Given the description of an element on the screen output the (x, y) to click on. 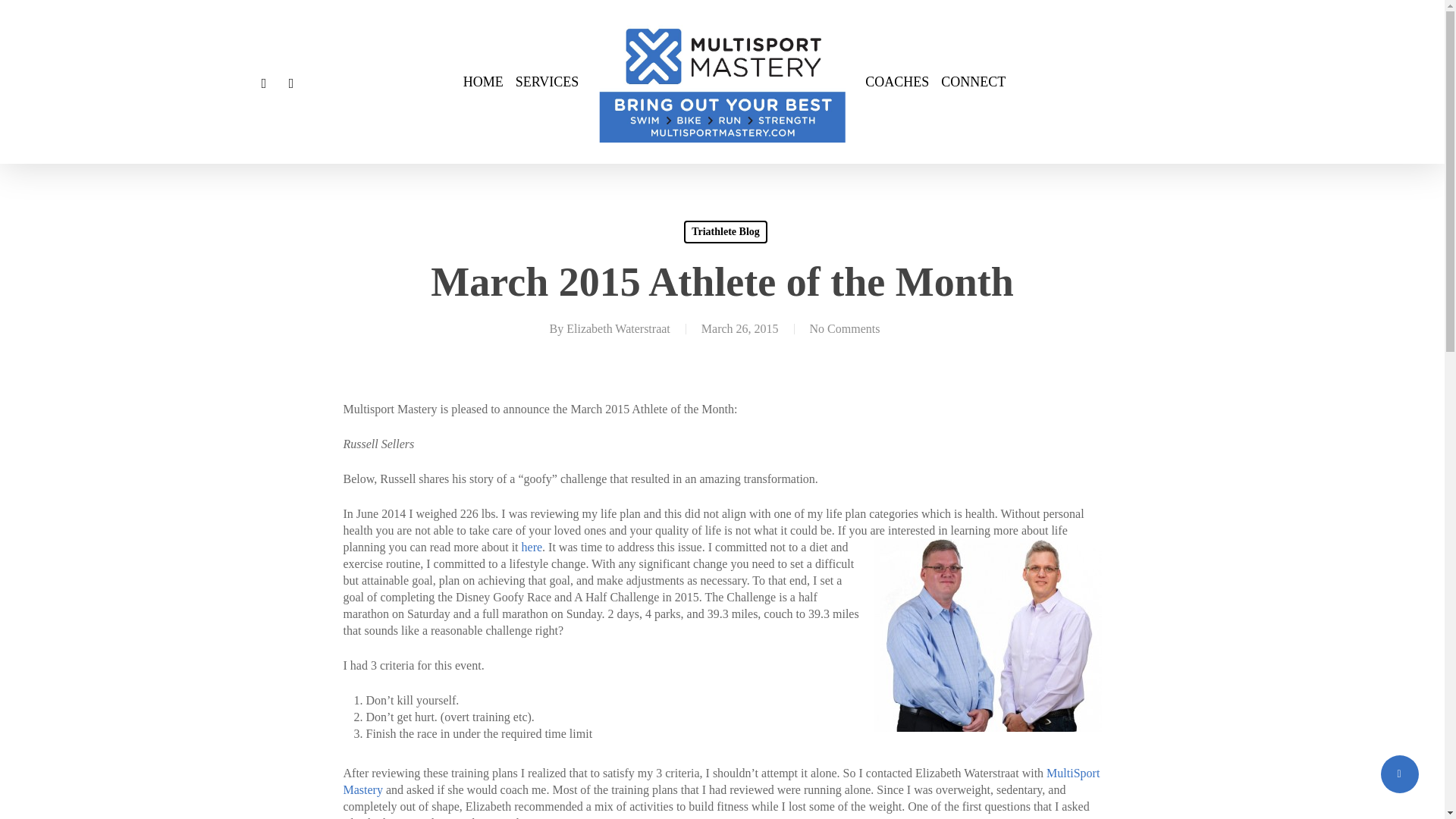
CONNECT (973, 81)
FACEBOOK (264, 81)
COACHES (896, 81)
here (532, 546)
Triathlete Blog (725, 231)
SERVICES (547, 81)
Posts by Elizabeth Waterstraat (617, 328)
INSTAGRAM (291, 81)
HOME (483, 81)
MultiSport Mastery (720, 781)
No Comments (844, 328)
Elizabeth Waterstraat (617, 328)
